Given the description of an element on the screen output the (x, y) to click on. 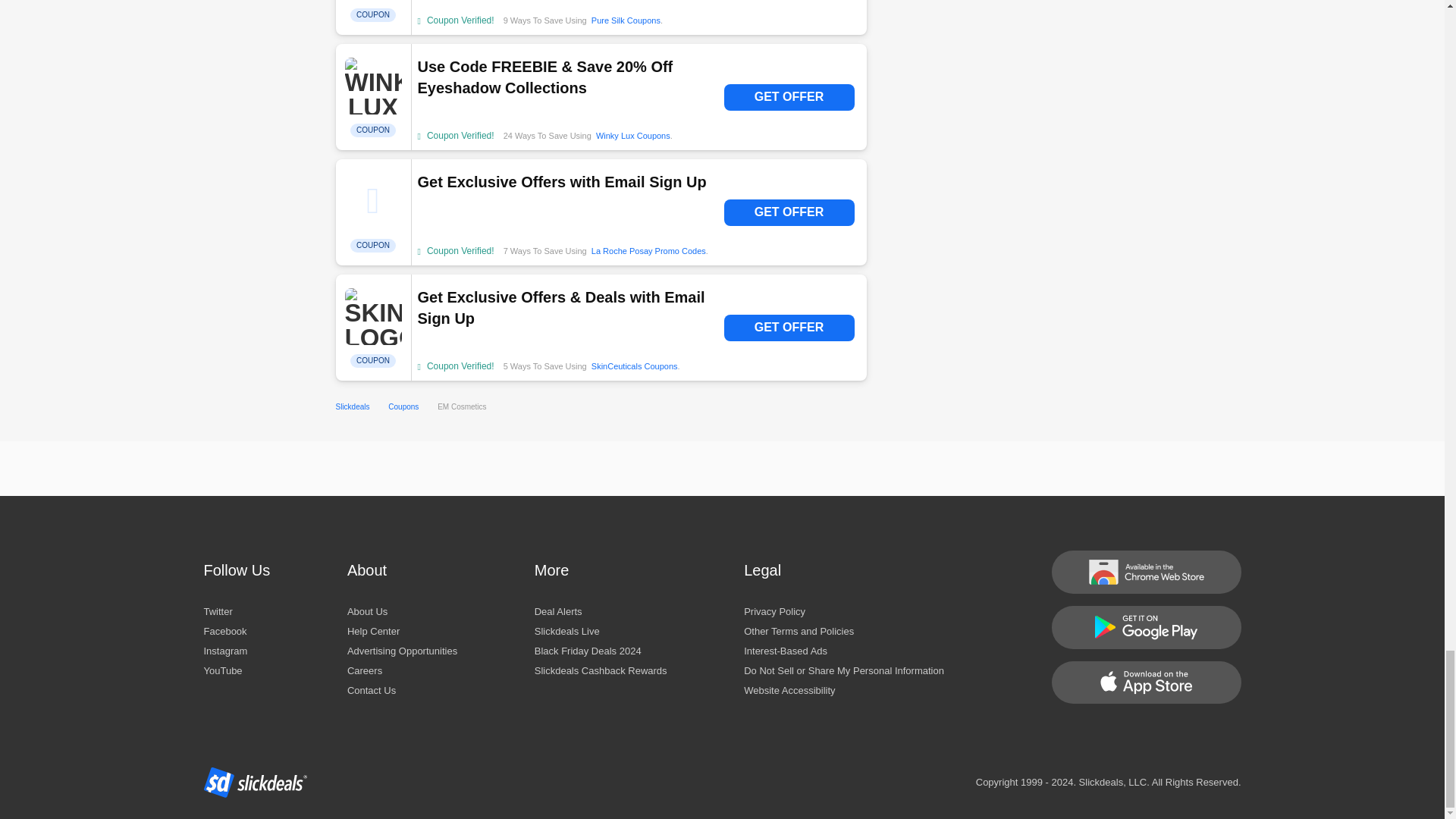
Install the Slickdeals iOS App (1145, 681)
Install the Slickdeals Android App (1145, 627)
Install the Slickdeals Extension (1145, 571)
